Given the description of an element on the screen output the (x, y) to click on. 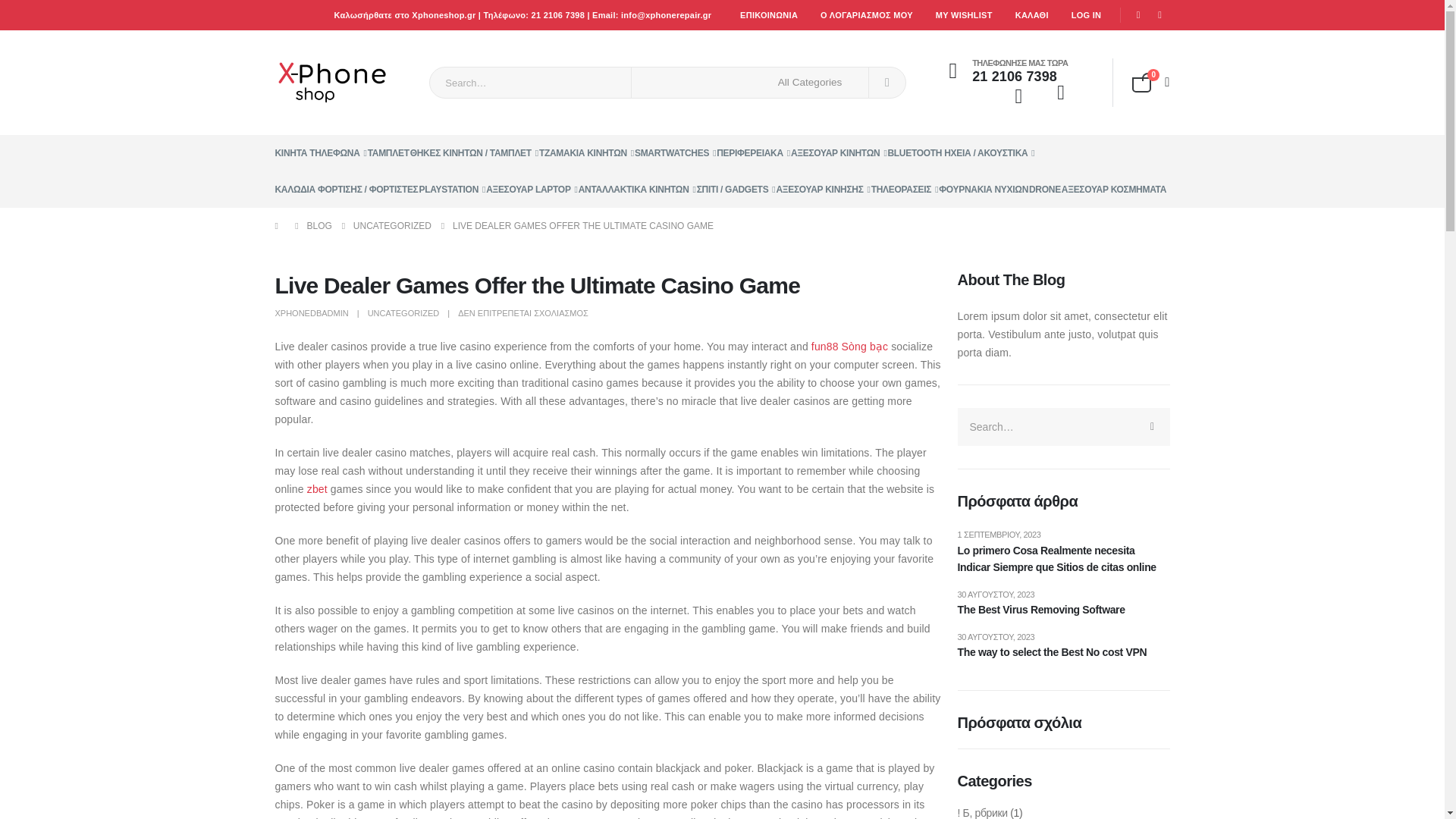
LOG IN (1085, 15)
Wishlist (1062, 95)
Facebook (1138, 14)
My Account (1018, 96)
Instagram (1160, 14)
Search (887, 82)
MY WISHLIST (964, 15)
